Given the description of an element on the screen output the (x, y) to click on. 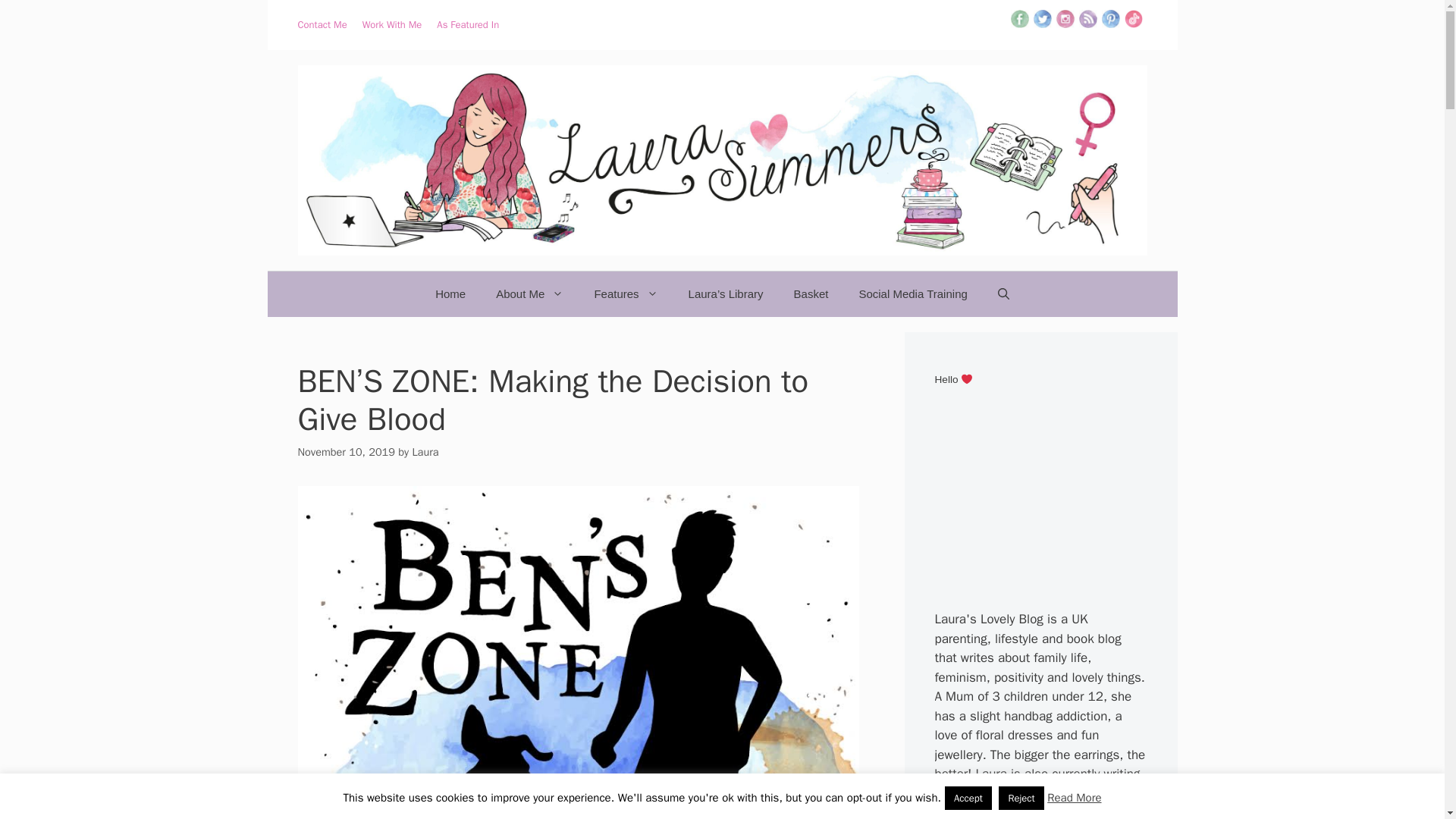
Laura (425, 451)
View all posts by Laura (425, 451)
Work With Me (392, 24)
Features (625, 293)
Home (450, 293)
As Featured In (467, 24)
Contact Me (321, 24)
Social Media Training (912, 293)
Basket (811, 293)
About Me (529, 293)
